Given the description of an element on the screen output the (x, y) to click on. 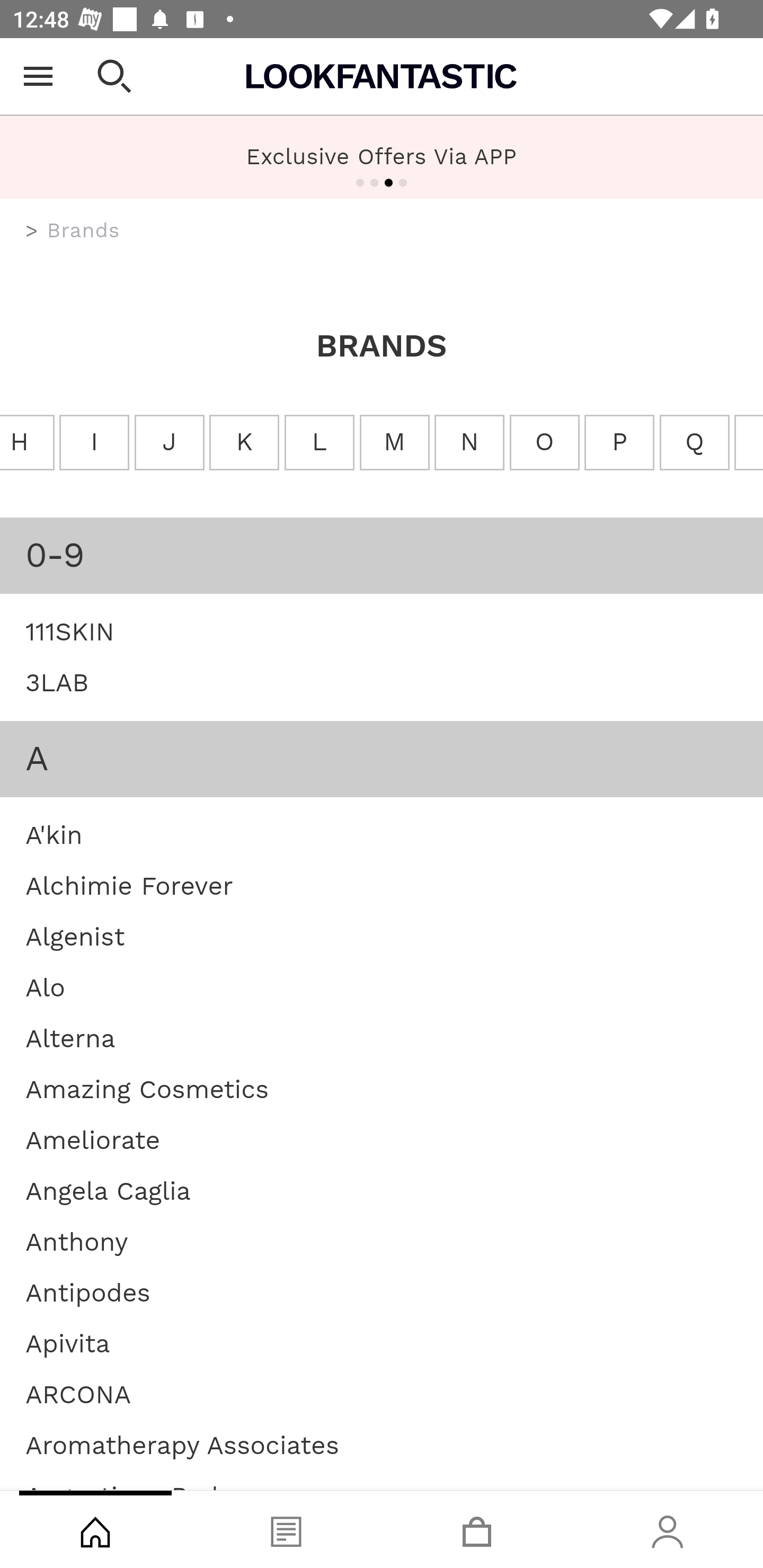
Open Menu (38, 75)
Open search (114, 75)
Lookfantastic USA (381, 75)
us.lookfantastic (32, 230)
H (27, 443)
I (94, 443)
J (169, 443)
K (244, 443)
L (318, 443)
M (395, 443)
N (469, 443)
O (543, 443)
P (618, 443)
Q (693, 443)
111SKIN (69, 630)
3LAB (57, 681)
A'kin (53, 833)
Alchimie Forever (129, 884)
Algenist (75, 935)
Alo (46, 986)
Alterna (70, 1037)
Amazing Cosmetics (147, 1087)
Ameliorate (92, 1139)
Angela Caglia (108, 1189)
Anthony (76, 1240)
Antipodes (88, 1291)
Apivita (68, 1342)
ARCONA (78, 1393)
Aromatherapy Associates (182, 1443)
Shop, tab, 1 of 4 (95, 1529)
Blog, tab, 2 of 4 (285, 1529)
Basket, tab, 3 of 4 (476, 1529)
Account, tab, 4 of 4 (667, 1529)
